Given the description of an element on the screen output the (x, y) to click on. 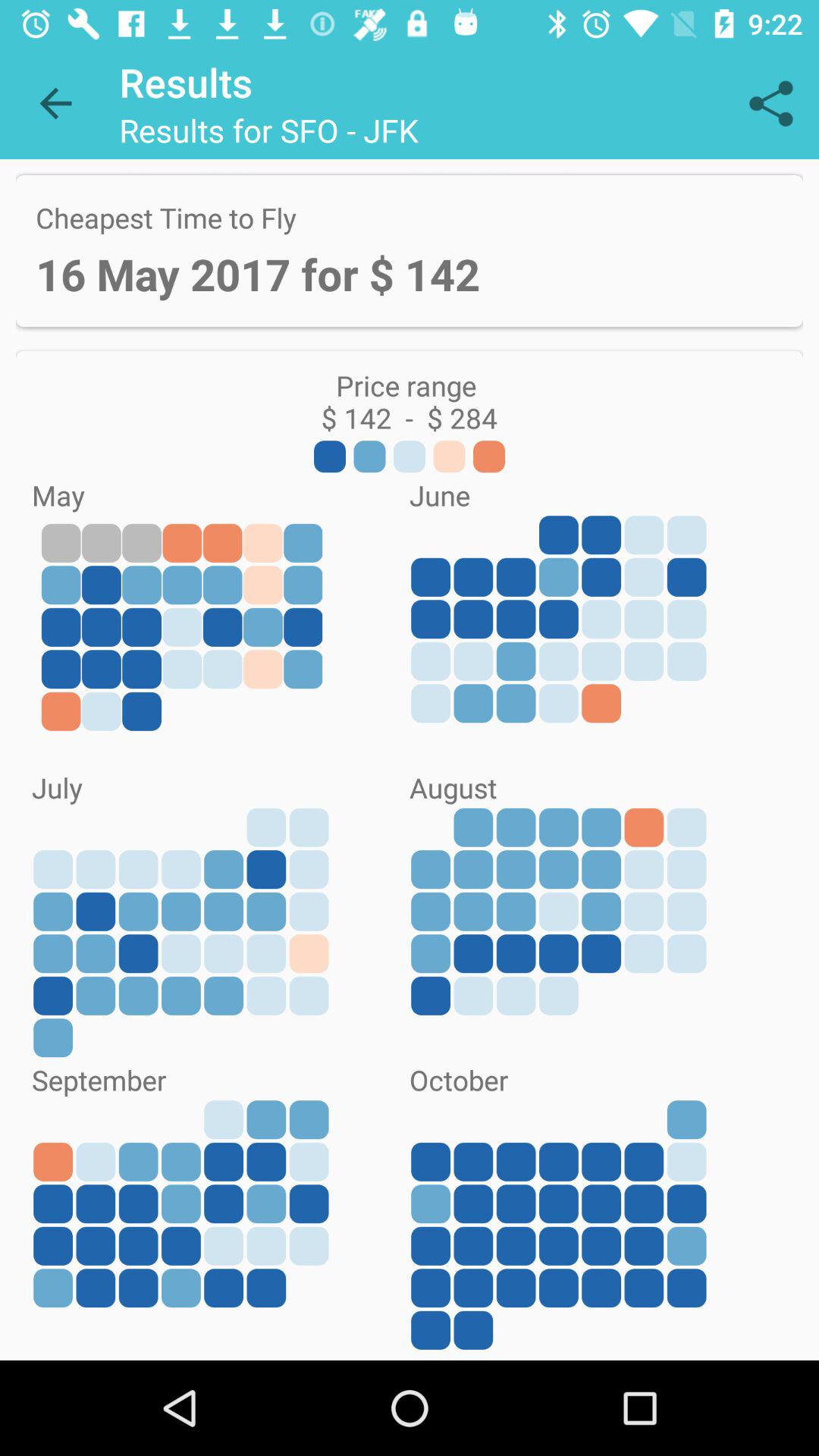
open the icon next to results (55, 103)
